Given the description of an element on the screen output the (x, y) to click on. 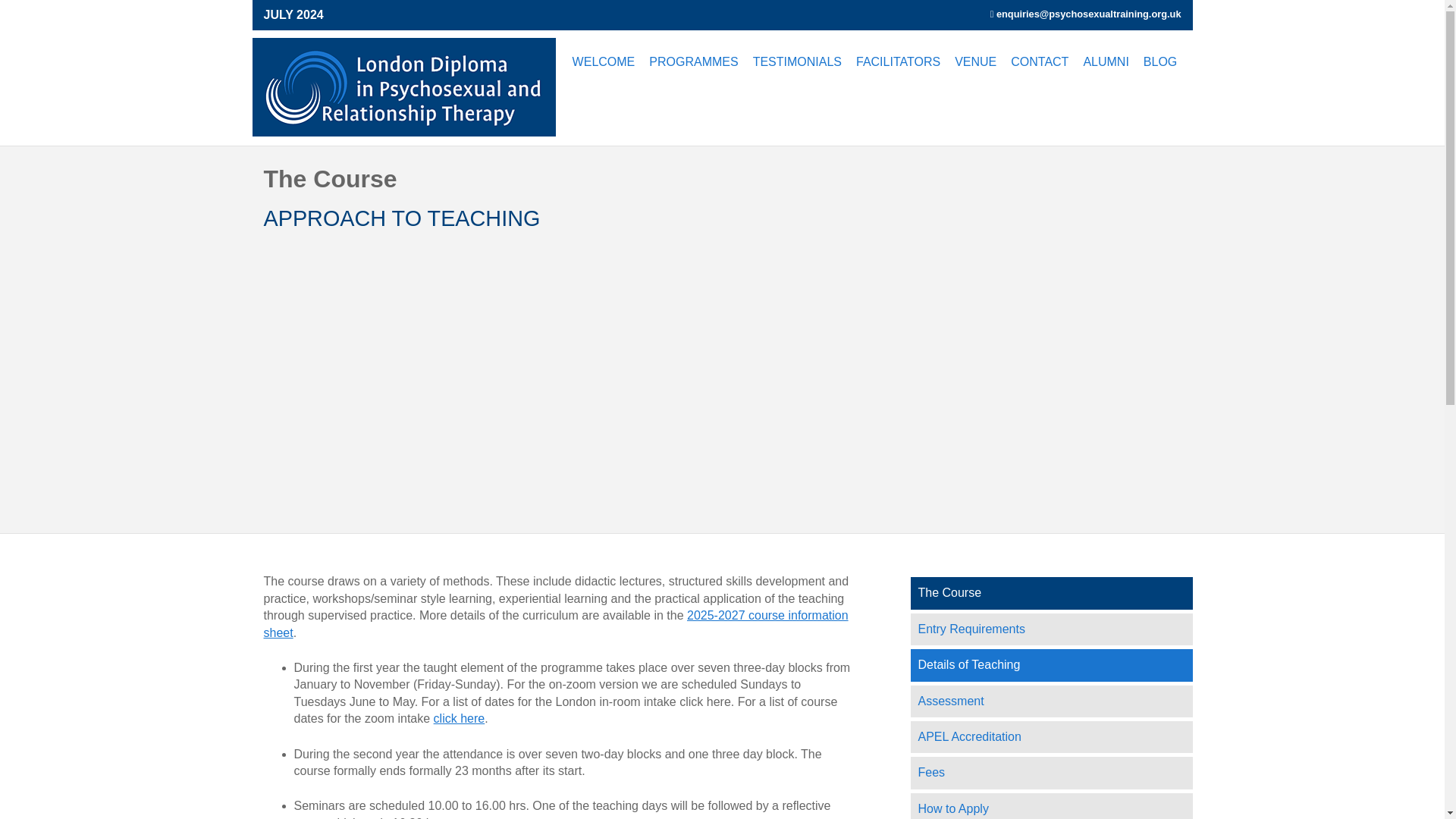
FACILITATORS (897, 61)
TESTIMONIALS (796, 61)
WELCOME (604, 61)
PROGRAMMES (693, 61)
Enquiries (1087, 13)
